Given the description of an element on the screen output the (x, y) to click on. 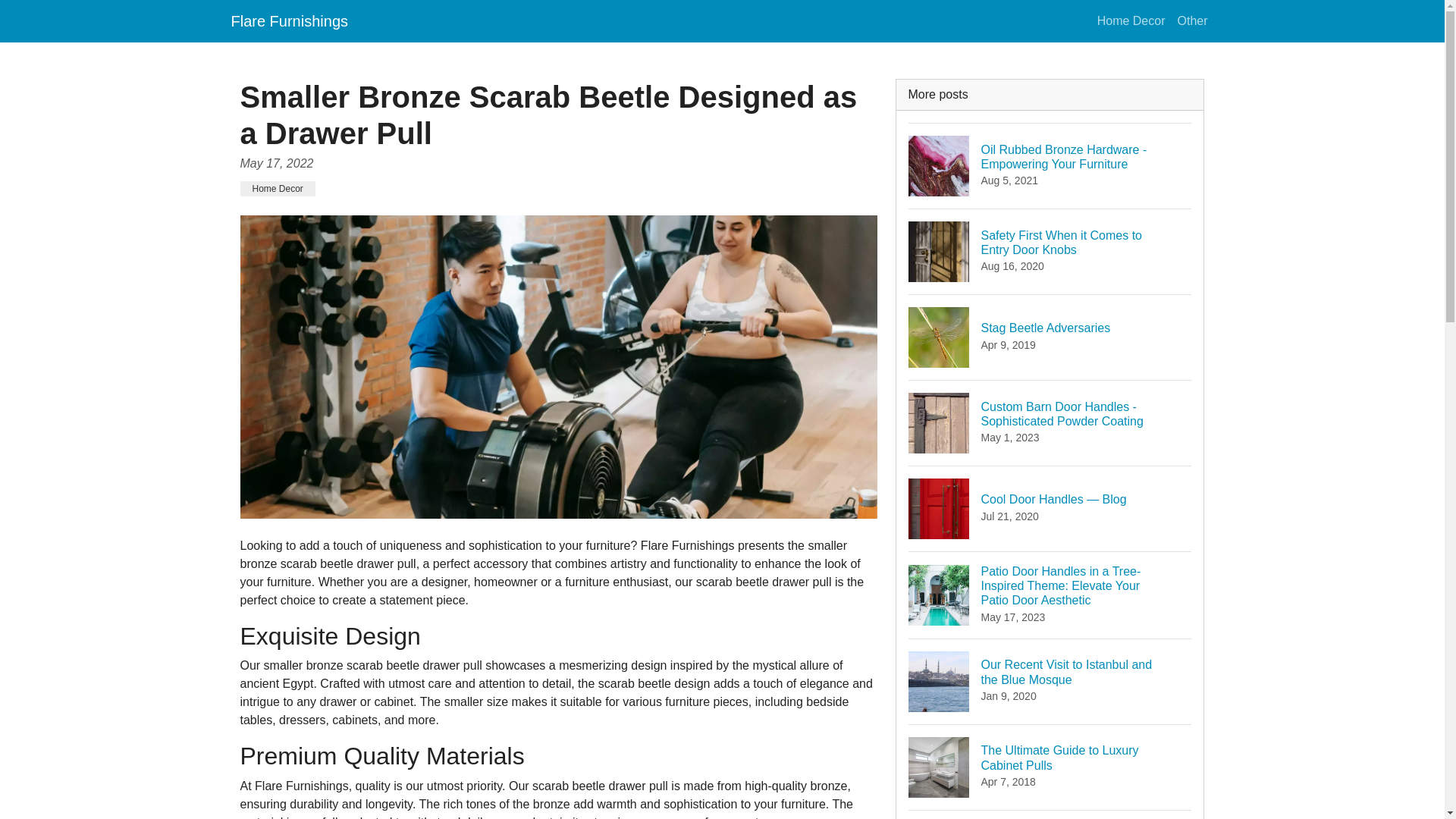
Flare Furnishings (1050, 814)
Home Decor (288, 20)
Other (1131, 20)
Home Decor (1191, 20)
